Given the description of an element on the screen output the (x, y) to click on. 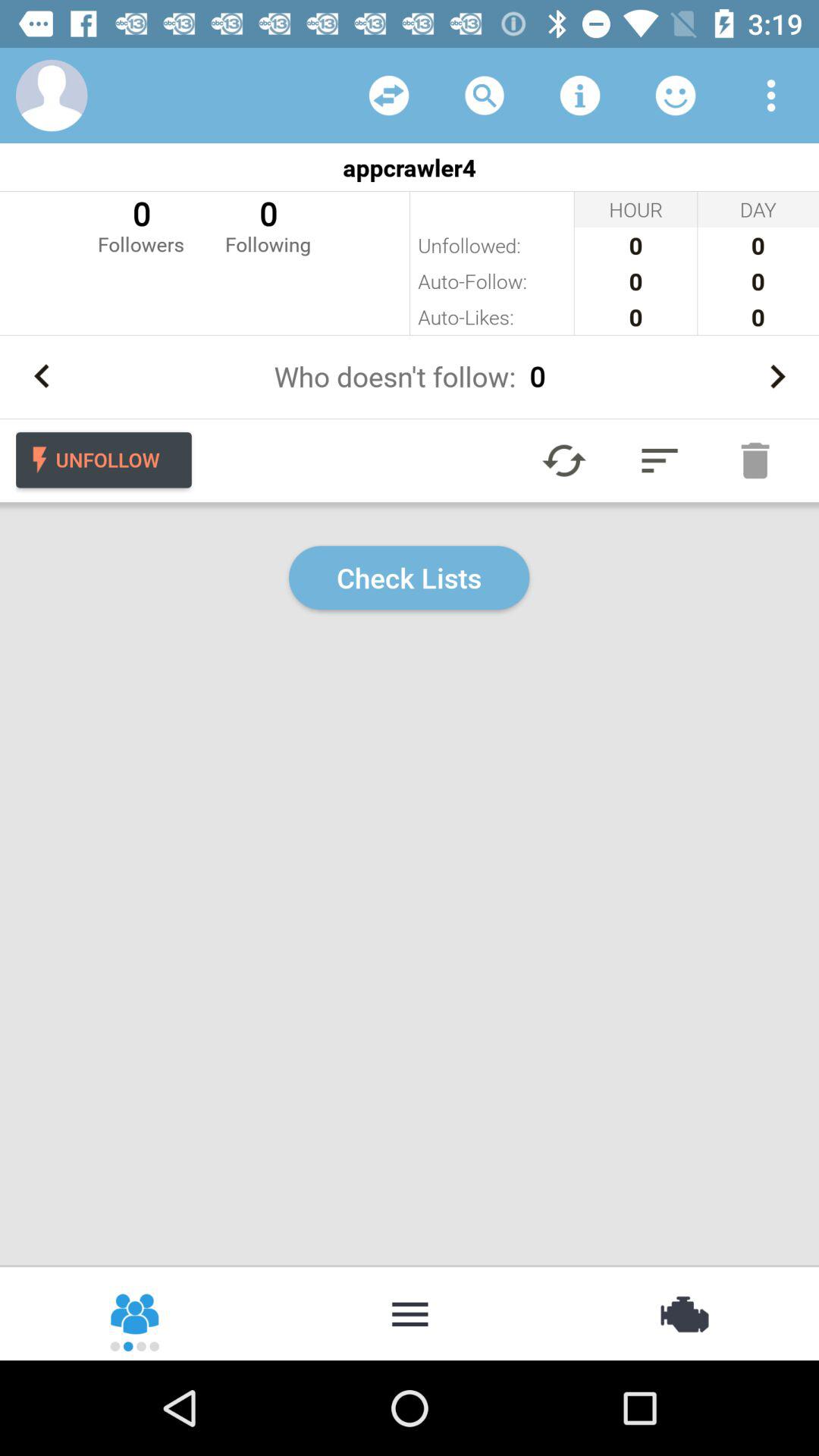
access your profile (51, 95)
